Given the description of an element on the screen output the (x, y) to click on. 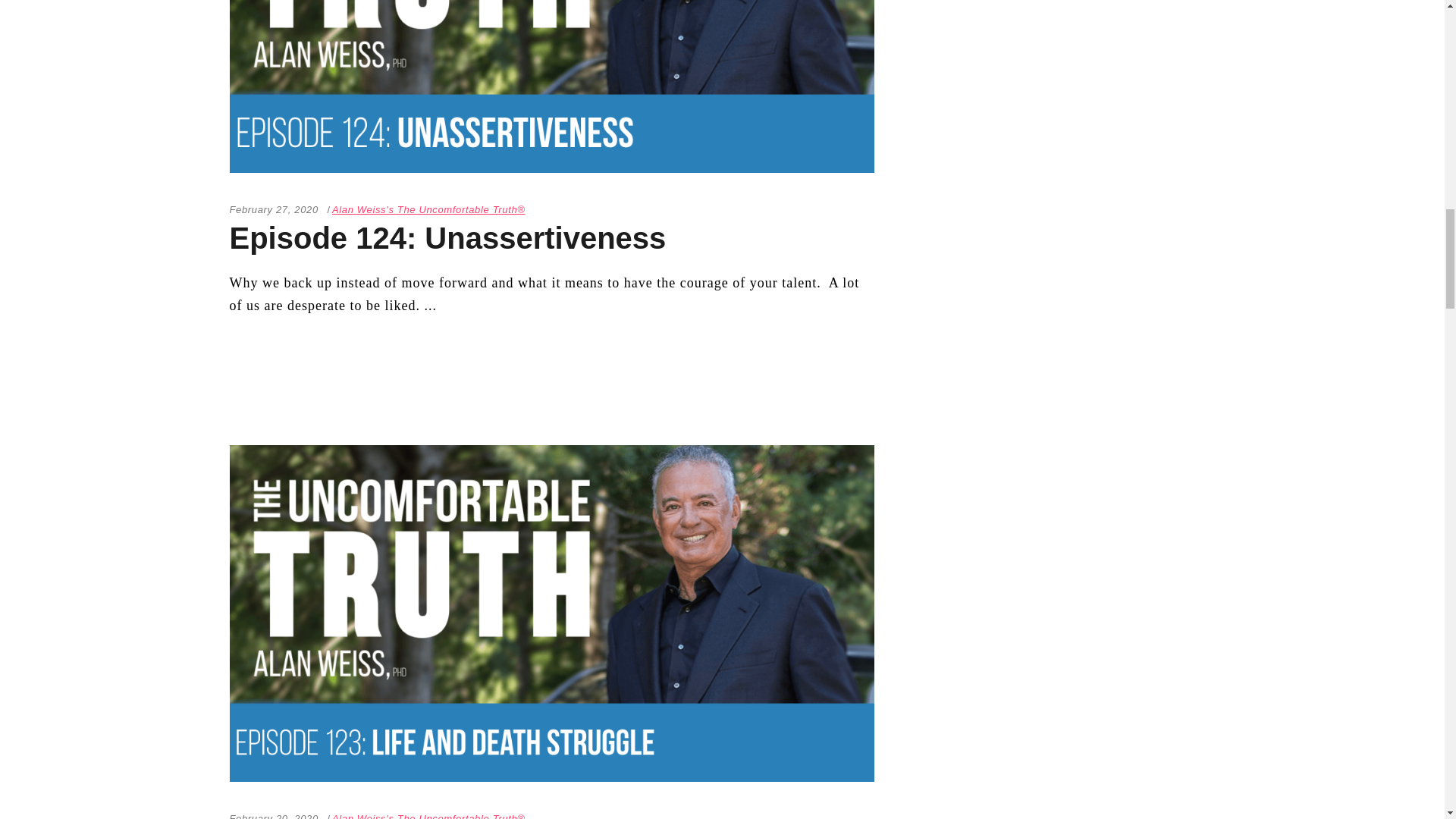
Episode 124: Unassertiveness (550, 86)
Episode 124: Unassertiveness (446, 237)
